Given the description of an element on the screen output the (x, y) to click on. 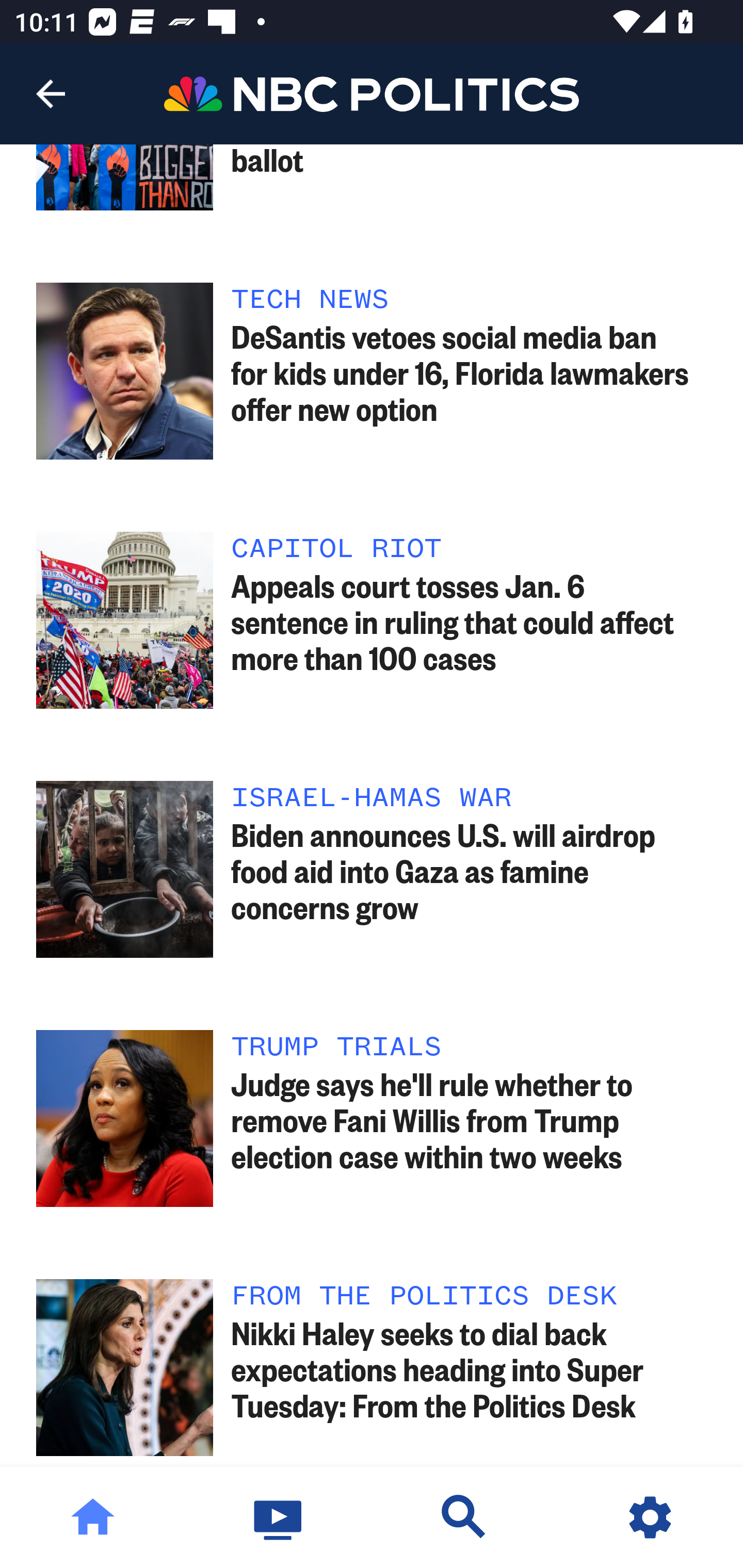
Navigate up (50, 93)
Watch (278, 1517)
Discover (464, 1517)
Settings (650, 1517)
